Given the description of an element on the screen output the (x, y) to click on. 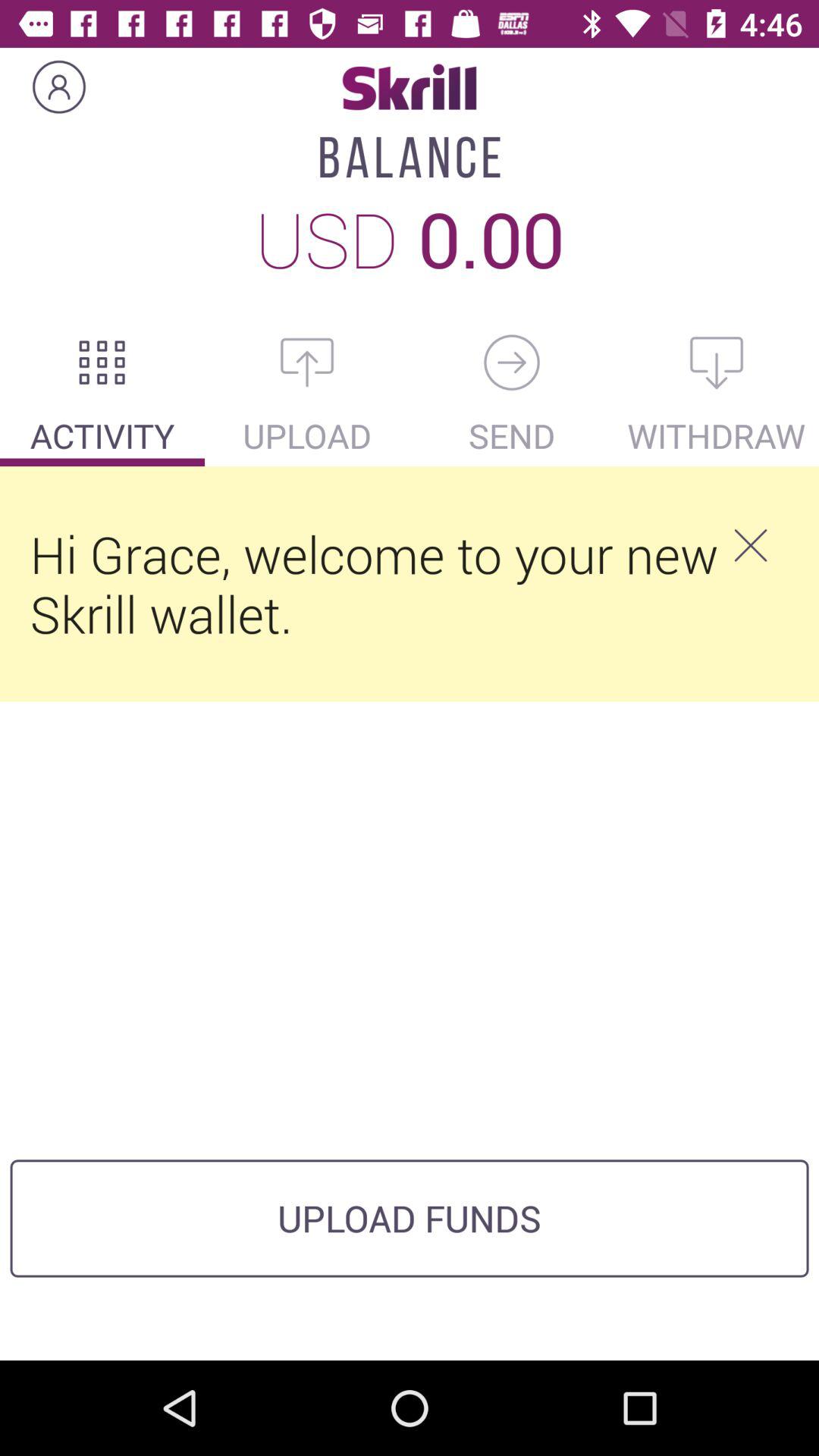
turn on icon next to hi grace welcome icon (750, 545)
